Given the description of an element on the screen output the (x, y) to click on. 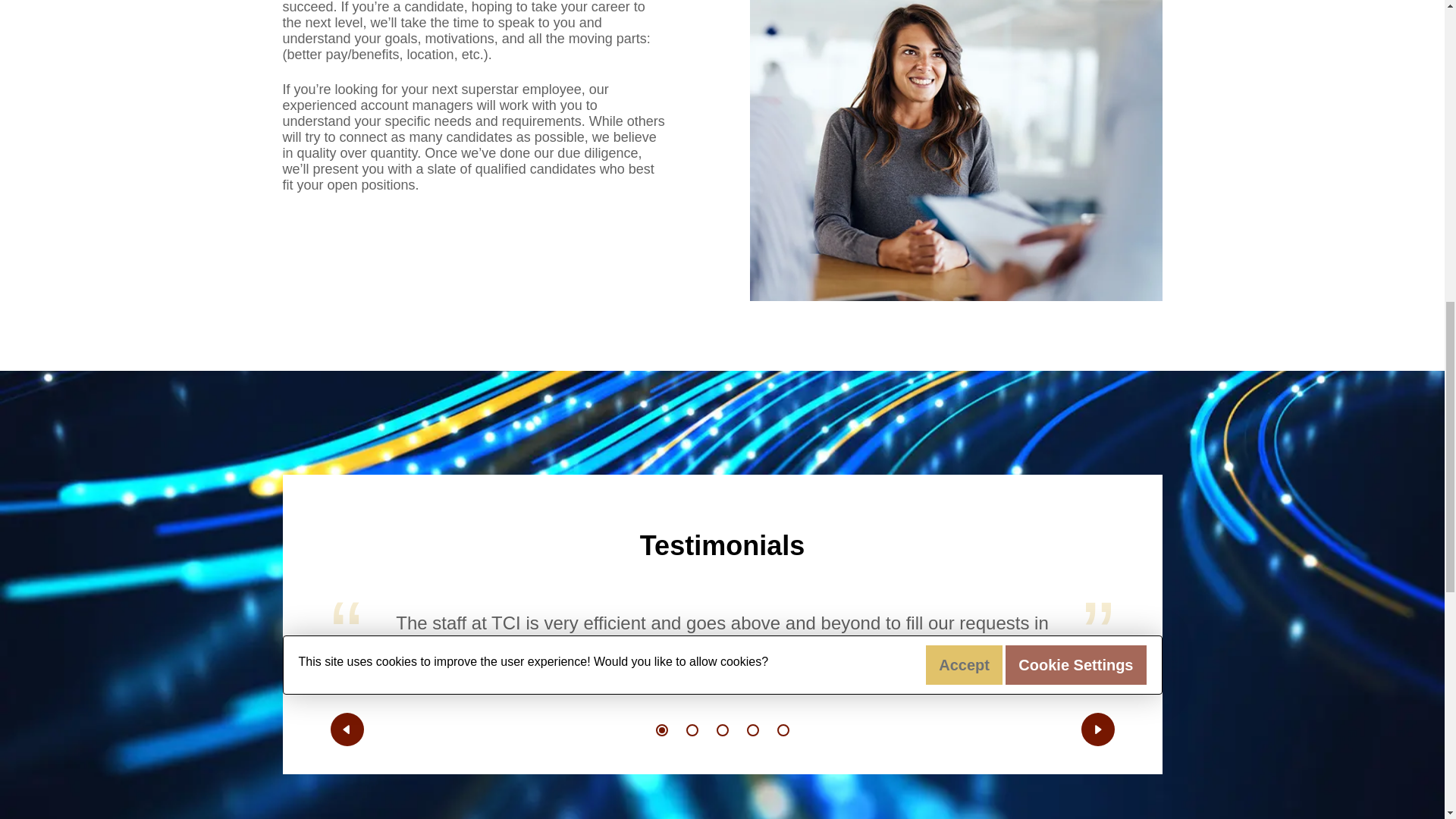
Previous testimonial (347, 729)
testimonial 3 (722, 729)
Next testimonial (1098, 729)
testimonial 4 (751, 729)
testimonial 1 (660, 729)
testimonial 2 (691, 729)
testimonial 5 (782, 729)
